Given the description of an element on the screen output the (x, y) to click on. 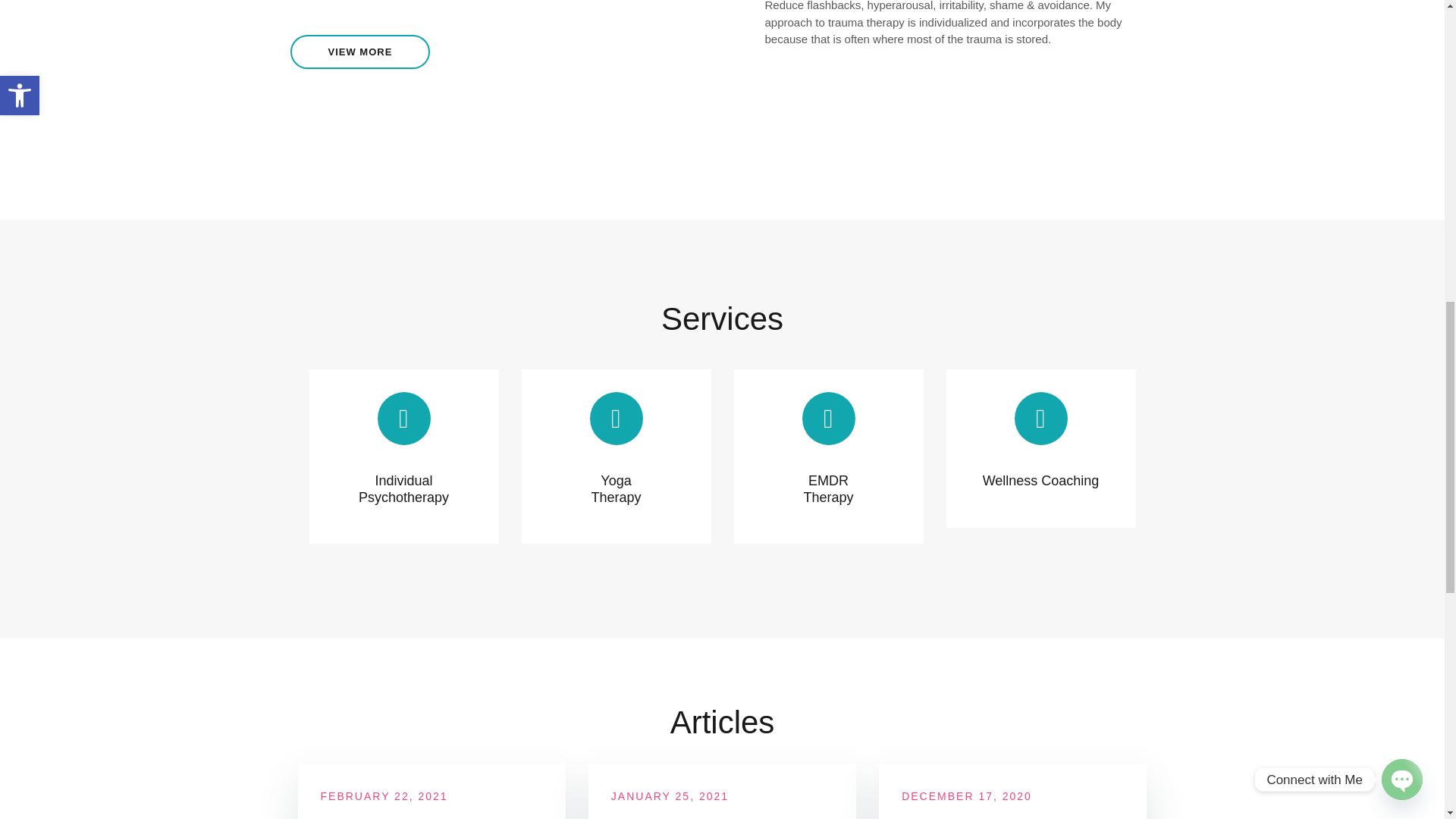
JANUARY 25, 2021 (670, 796)
Wellness Coaching (1040, 480)
VIEW MORE (359, 51)
Services (722, 318)
Burnout and COVID-19 (705, 817)
Individual Psychotherapy (403, 489)
FEBRUARY 22, 2021 (383, 796)
Things You May Not Know About Yoga and Mental Health (427, 817)
